Given the description of an element on the screen output the (x, y) to click on. 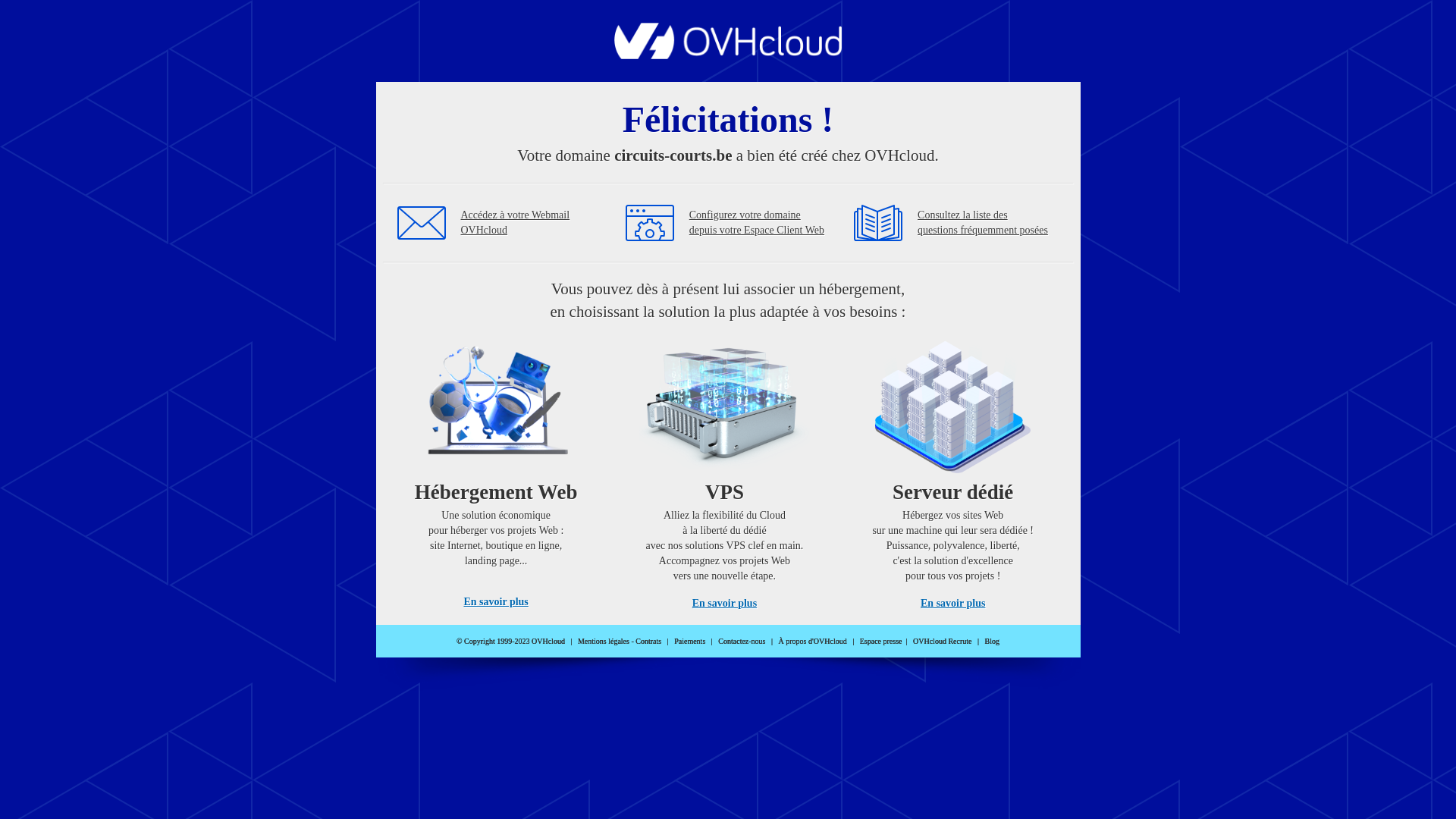
Blog Element type: text (992, 641)
OVHcloud Recrute Element type: text (942, 641)
En savoir plus Element type: text (724, 602)
Configurez votre domaine
depuis votre Espace Client Web Element type: text (756, 222)
En savoir plus Element type: text (952, 602)
Espace presse Element type: text (880, 641)
Contactez-nous Element type: text (741, 641)
En savoir plus Element type: text (495, 601)
VPS Element type: hover (724, 469)
OVHcloud Element type: hover (727, 54)
Paiements Element type: text (689, 641)
